Given the description of an element on the screen output the (x, y) to click on. 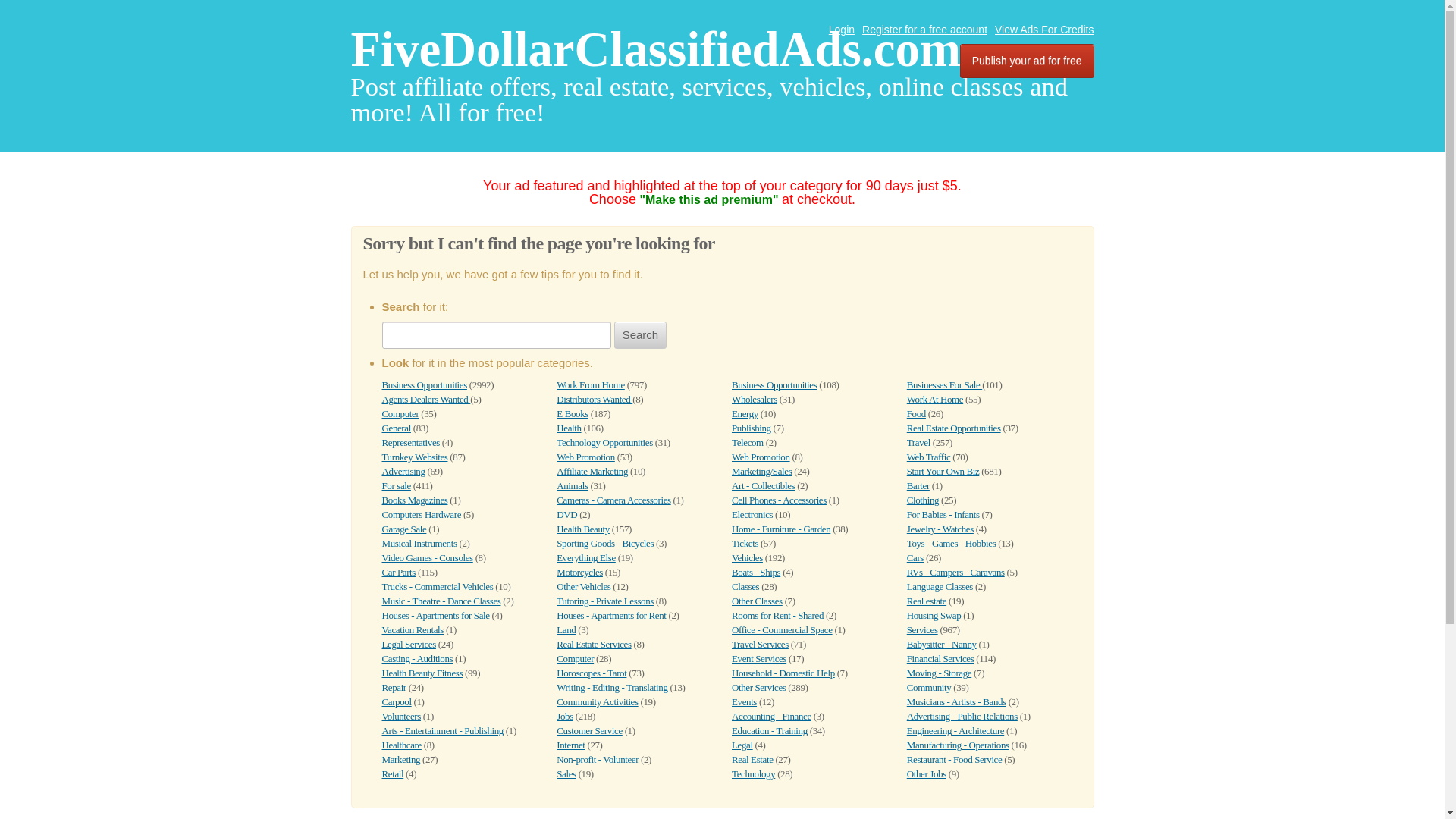
For sale (395, 485)
Advertising (403, 471)
Animals (572, 485)
Computer (400, 413)
Energy (745, 413)
Telecom (747, 441)
Technology Opportunities (604, 441)
Work At Home (934, 398)
Publish your ad for free (1026, 60)
Start Your Own Biz (943, 471)
